Given the description of an element on the screen output the (x, y) to click on. 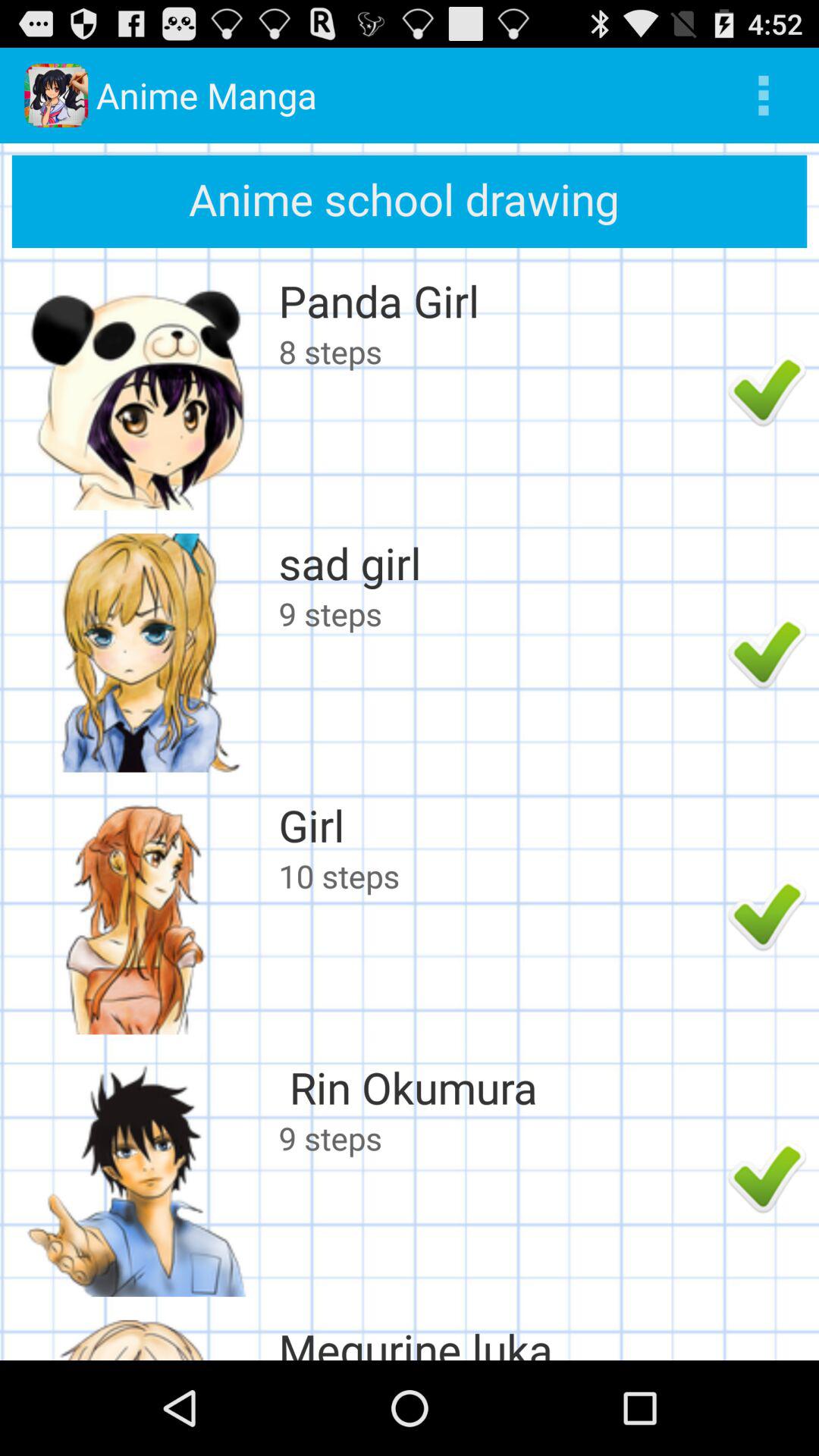
click sad girl (498, 562)
